Given the description of an element on the screen output the (x, y) to click on. 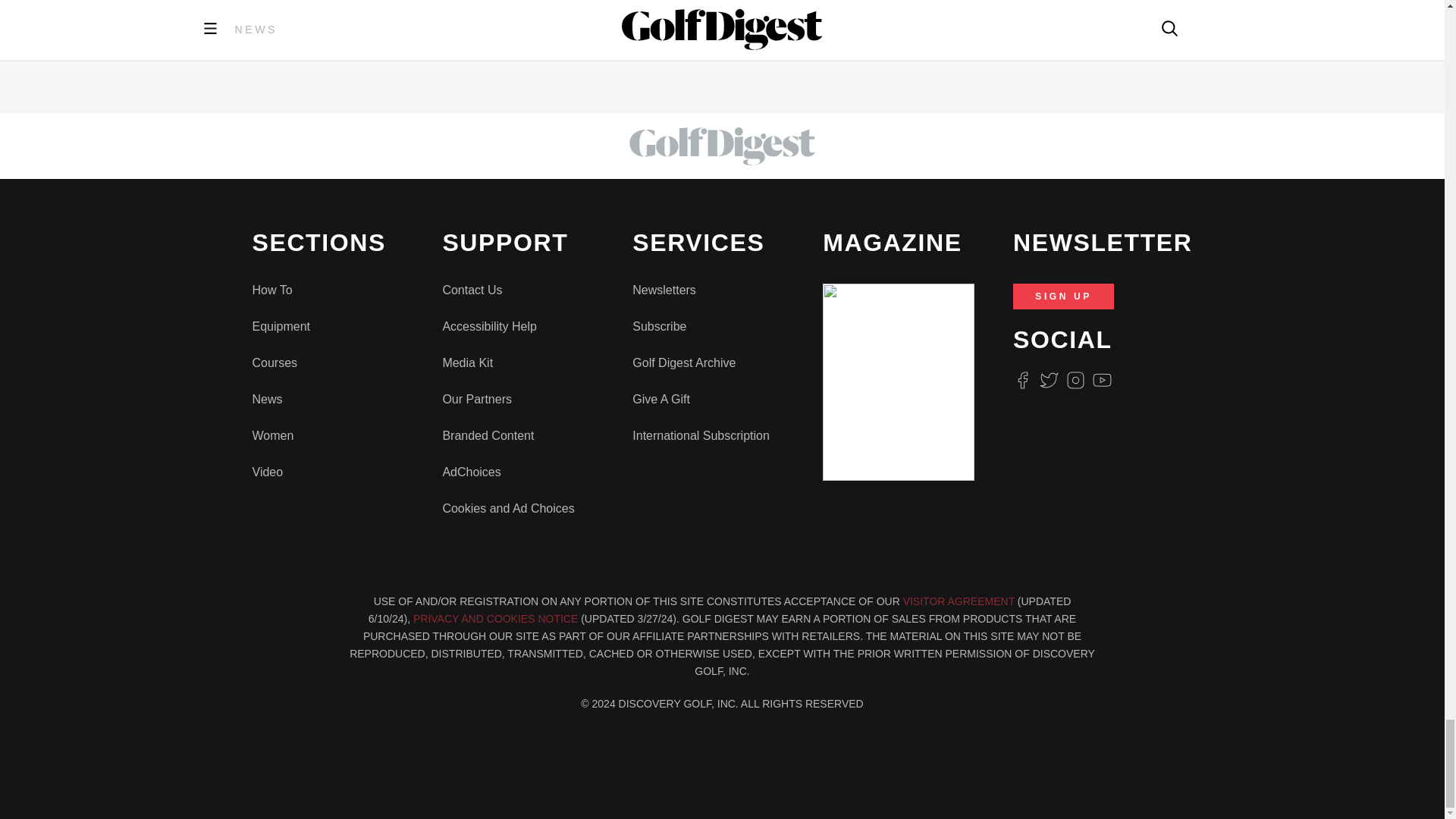
Twitter Logo (1048, 380)
Youtube Icon (1102, 380)
Share on Facebook (564, 17)
Instagram Logo (1074, 380)
Share on Twitter (604, 17)
Share on LinkedIn (637, 17)
Facebook Logo (1022, 380)
